Given the description of an element on the screen output the (x, y) to click on. 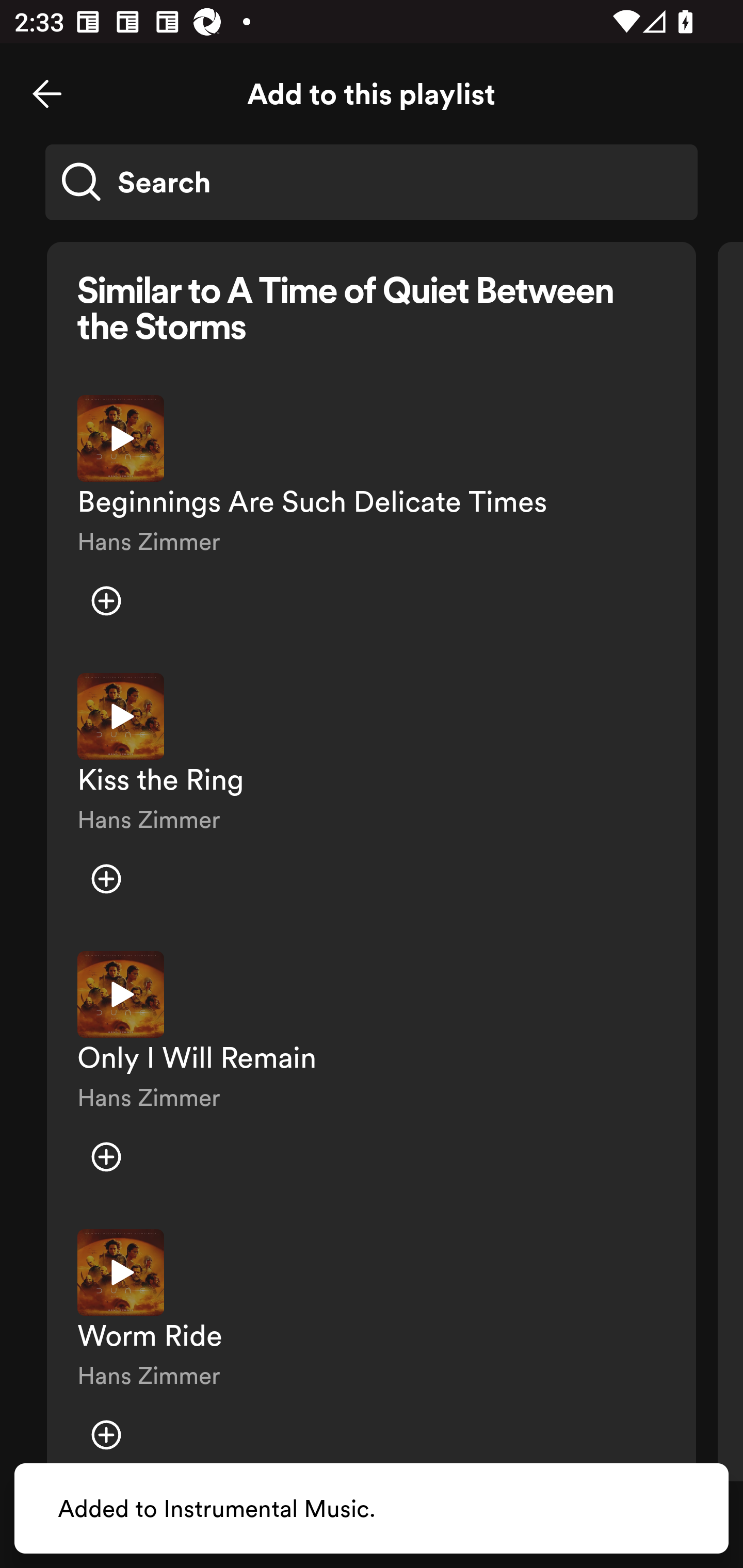
Close (46, 93)
Search (371, 181)
Play preview (120, 438)
Add item (106, 601)
Play preview Kiss the Ring Hans Zimmer Add item (371, 797)
Play preview (120, 716)
Add item (106, 878)
Play preview (120, 994)
Add item (106, 1156)
Play preview Worm Ride Hans Zimmer Add item (371, 1348)
Play preview (120, 1272)
Add item (106, 1435)
